Given the description of an element on the screen output the (x, y) to click on. 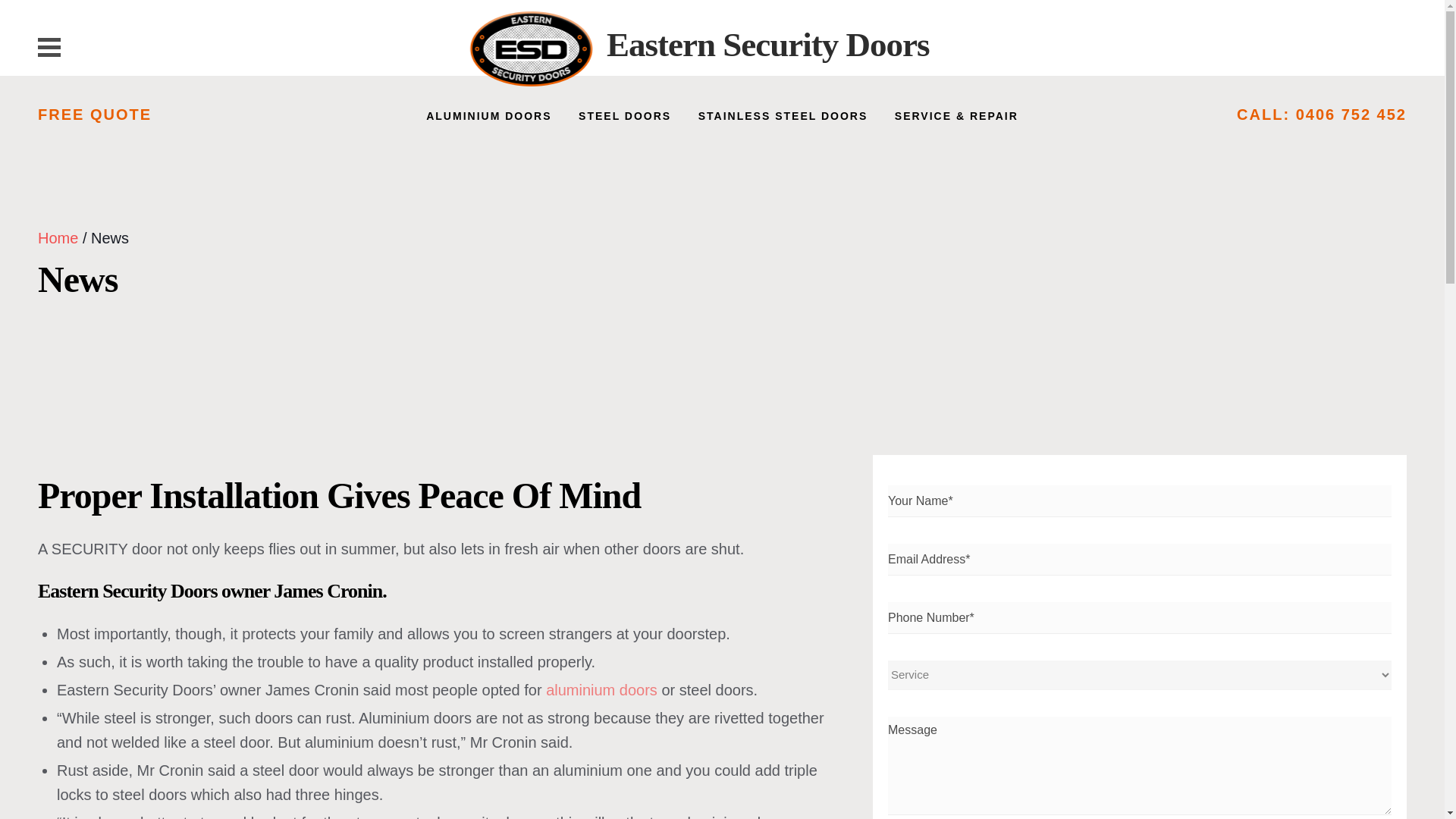
Eastern Security Doors (767, 44)
STEEL DOORS (624, 116)
STAINLESS STEEL DOORS (782, 116)
CALL: 0406 752 452 (1321, 114)
ALUMINIUM DOORS (488, 116)
Aluminium Range (602, 689)
FREE QUOTE (94, 114)
